Given the description of an element on the screen output the (x, y) to click on. 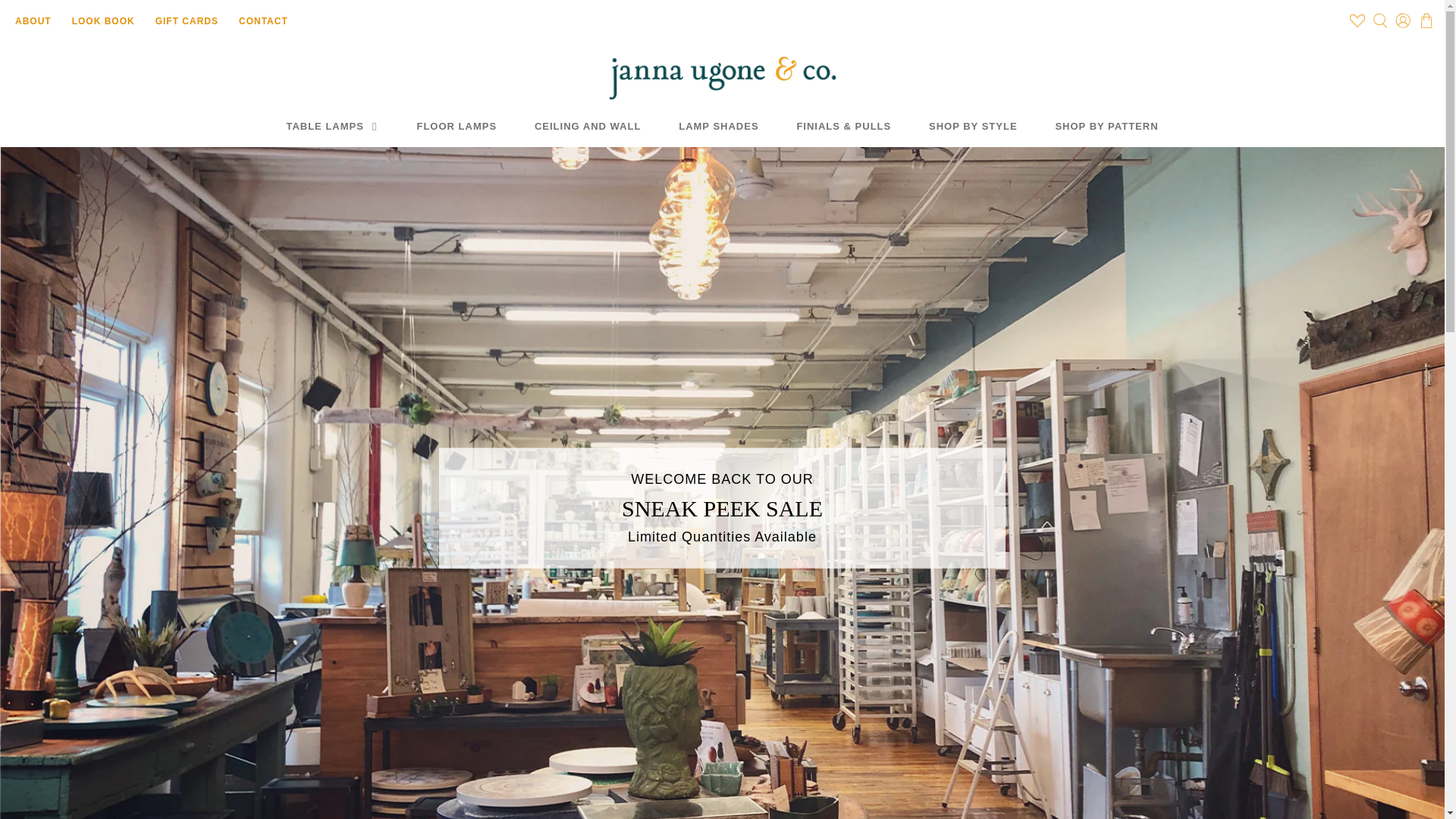
LAMP SHADES (718, 126)
ABOUT (32, 20)
CONTACT (263, 20)
CEILING AND WALL (587, 126)
TABLE LAMPS (332, 126)
FLOOR LAMPS (456, 126)
LOOK BOOK (103, 20)
GIFT CARDS (186, 20)
SHOP BY PATTERN (1107, 126)
SHOP BY STYLE (972, 126)
